Given the description of an element on the screen output the (x, y) to click on. 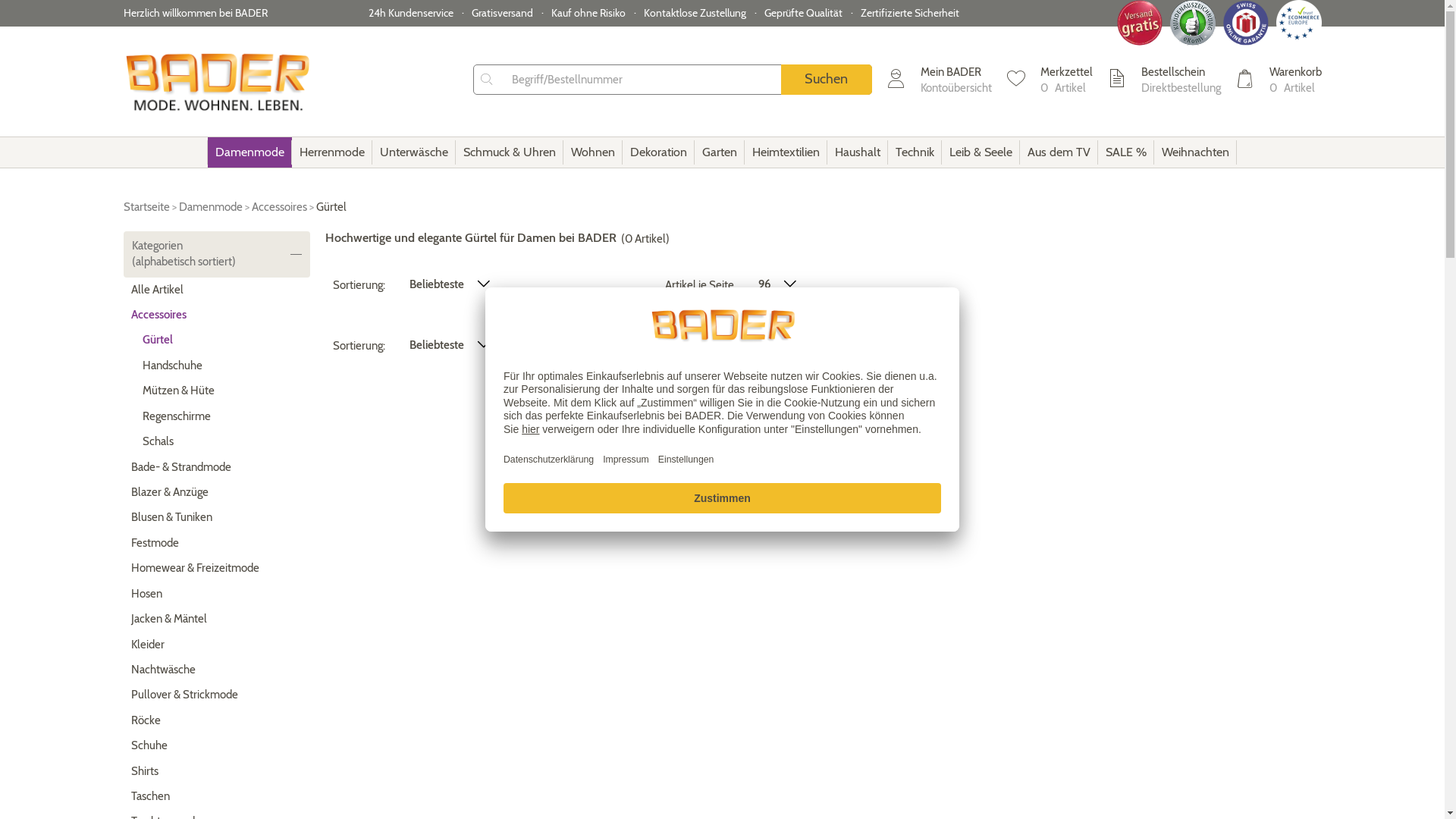
96
  Element type: text (776, 284)
Accessoires Element type: text (279, 206)
eKomi silver seal Award Element type: hover (1188, 22)
Warenkorb
0   Artikel Element type: text (1278, 80)
Leib & Seele Element type: text (980, 152)
Kategorien (alphabetisch sortiert) Element type: text (216, 254)
96
  Element type: text (776, 345)
Bestellschein
Direktbestellung Element type: text (1163, 80)
BADER-Versandhaus Startseite Element type: hover (216, 81)
Herrenmode Element type: text (331, 152)
Accessoires Element type: text (216, 314)
Beliebteste
  Element type: text (448, 284)
Kleider Element type: text (216, 644)
Hosen Element type: text (216, 593)
Logo Versand gratis Element type: hover (1135, 22)
Beliebteste
  Element type: text (448, 345)
Taschen Element type: text (216, 796)
Bade- & Strandmode Element type: text (216, 467)
Alle Artikel Element type: text (216, 289)
Homewear & Freizeitmode Element type: text (216, 567)
Technik Element type: text (914, 152)
Blusen & Tuniken Element type: text (216, 517)
Startseite Element type: text (145, 206)
Pullover & Strickmode Element type: text (216, 694)
Schuhe Element type: text (216, 745)
Garten Element type: text (719, 152)
Schmuck & Uhren Element type: text (509, 152)
Haushalt Element type: text (857, 152)
Handschuhe Element type: text (216, 365)
Festmode Element type: text (216, 542)
Damenmode Element type: text (249, 152)
Schals Element type: text (216, 441)
Damenmode Element type: text (210, 206)
Suchen Element type: text (826, 79)
Dekoration Element type: text (658, 152)
Regenschirme Element type: text (216, 416)
Weihnachten Element type: text (1195, 152)
Aus dem TV Element type: text (1058, 152)
Heimtextilien Element type: text (785, 152)
Shirts Element type: text (216, 771)
Wohnen Element type: text (592, 152)
24h Kundenservice Element type: text (410, 12)
SALE % Element type: text (1126, 152)
Merkzettel
0   Artikel Element type: text (1049, 80)
